Given the description of an element on the screen output the (x, y) to click on. 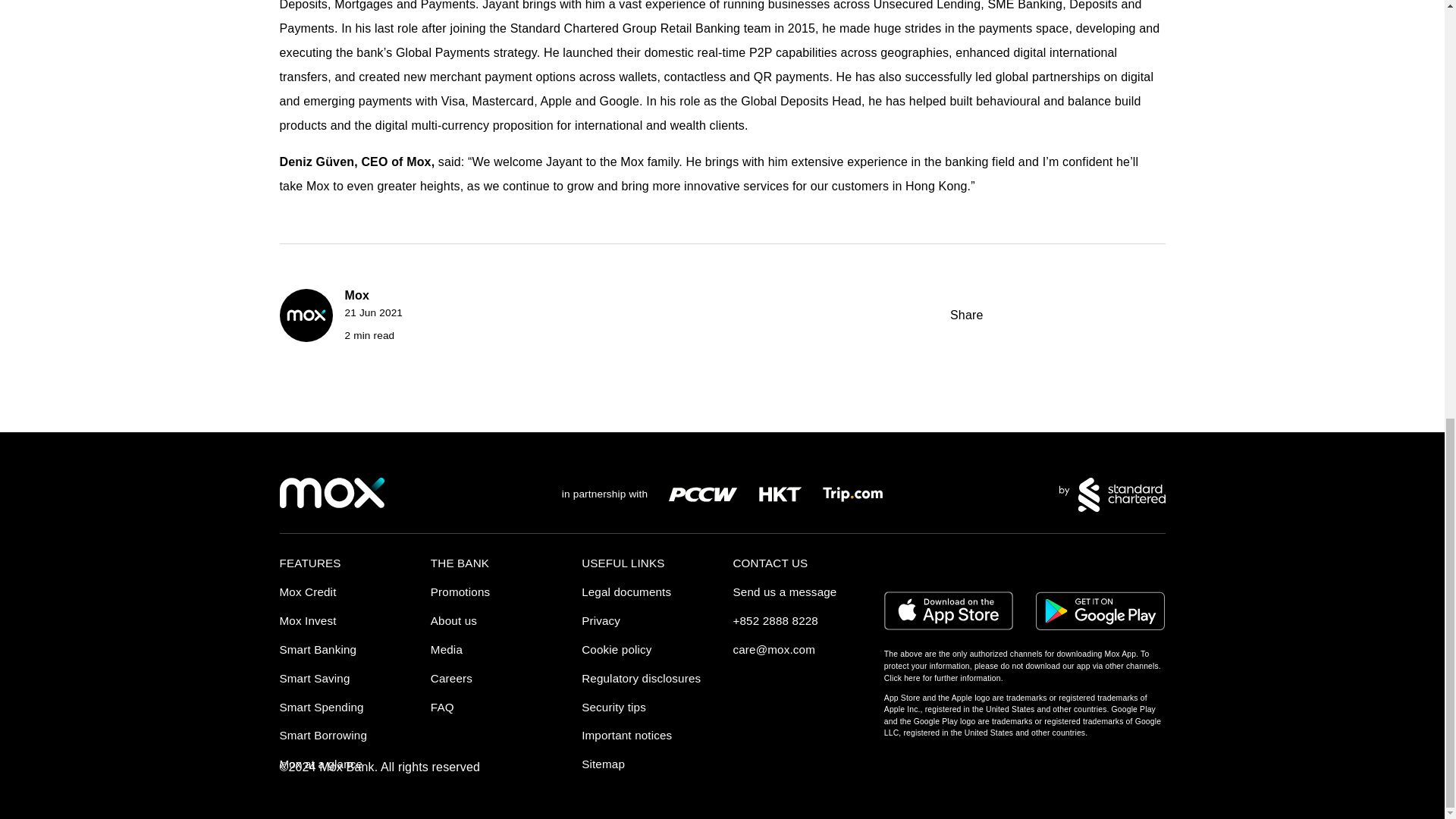
Mox Credit (307, 592)
